Given the description of an element on the screen output the (x, y) to click on. 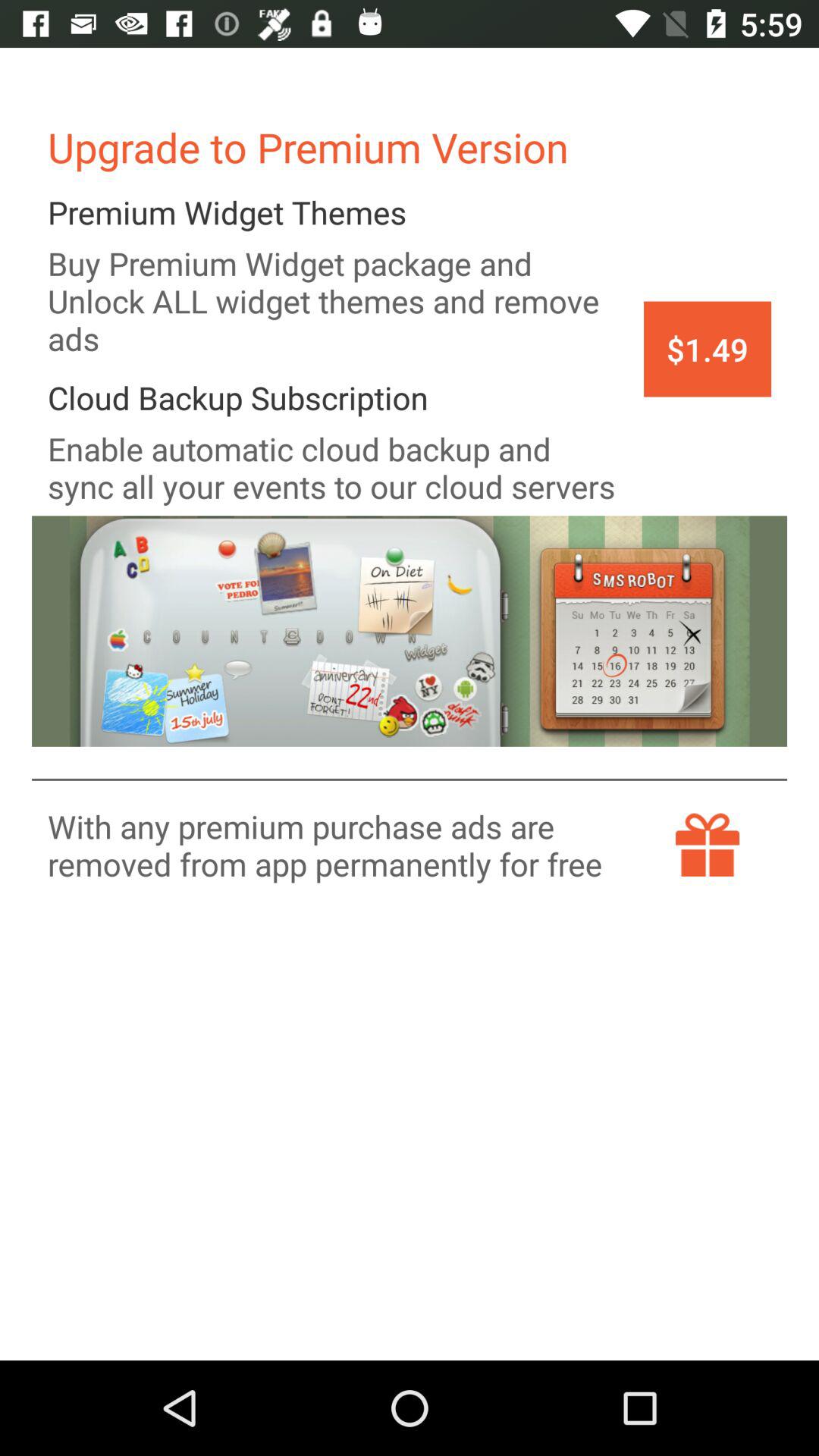
jump to the $1.49 item (707, 348)
